Given the description of an element on the screen output the (x, y) to click on. 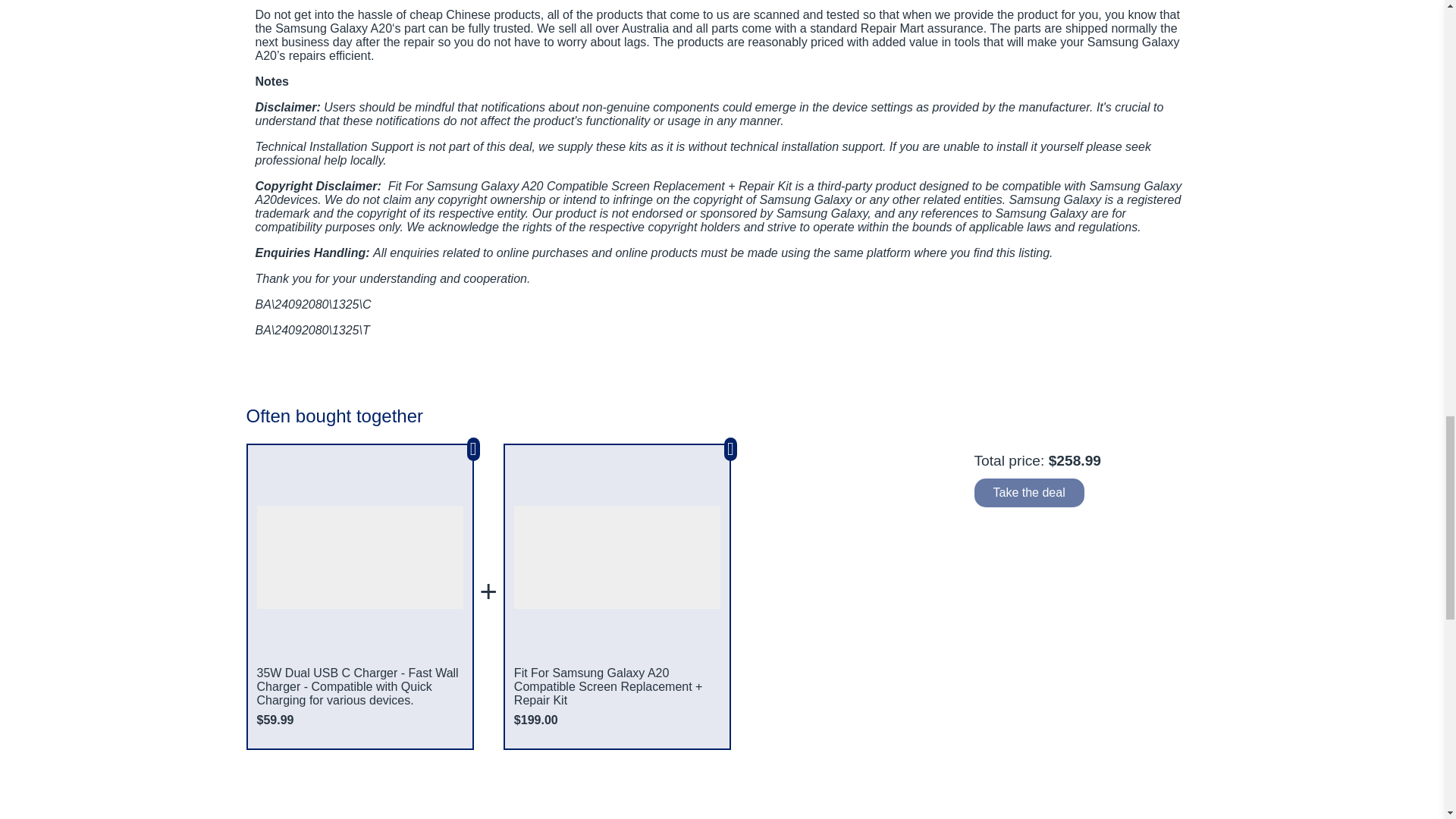
Take the deal (1028, 492)
